Given the description of an element on the screen output the (x, y) to click on. 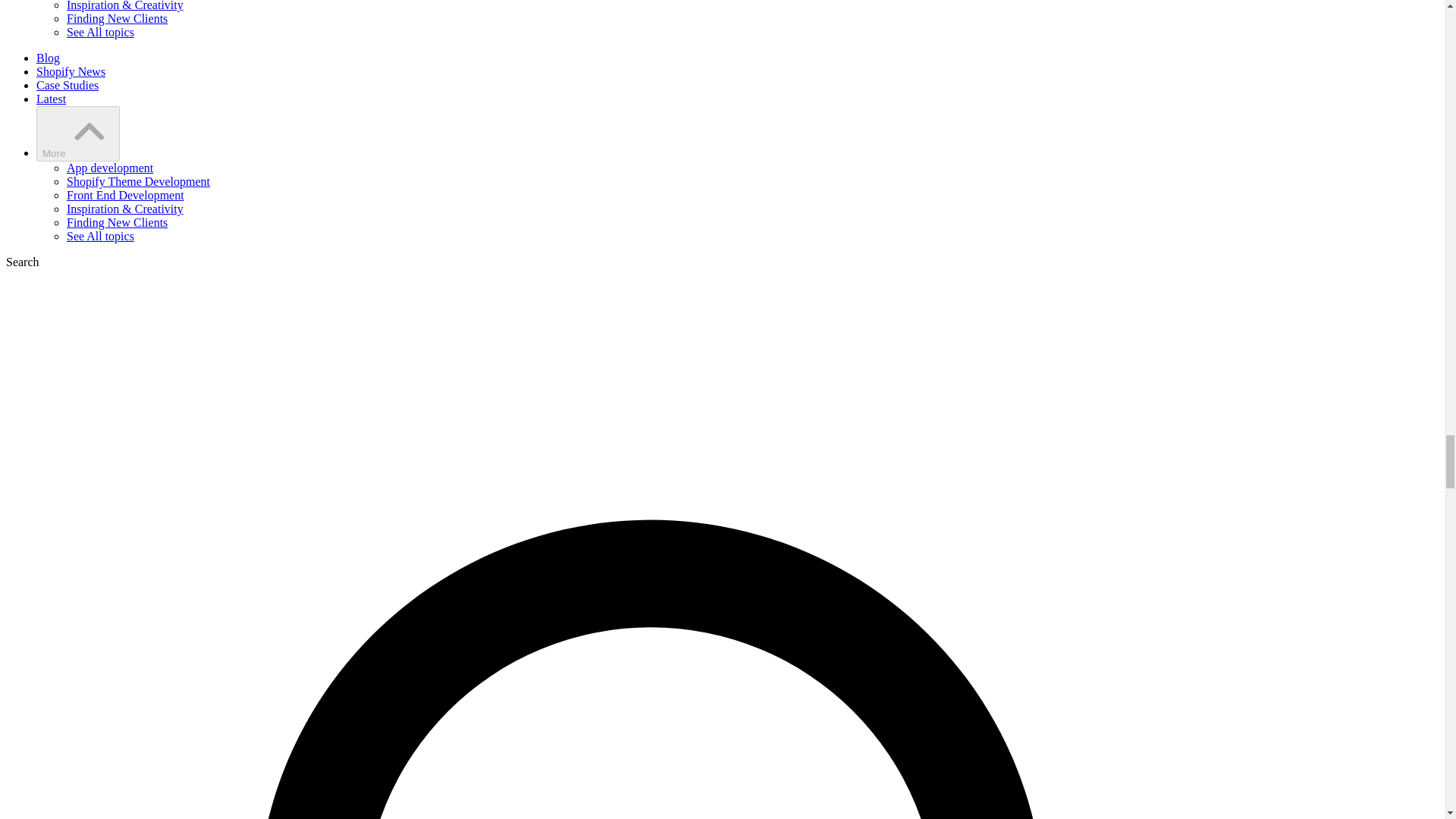
Case Studies (67, 84)
Shopify Theme Development (137, 181)
Front End Development (125, 195)
More (77, 133)
Latest (50, 98)
Finding New Clients (116, 18)
Blog (47, 57)
See All topics (99, 236)
Finding New Clients (116, 222)
See All topics (99, 31)
